Given the description of an element on the screen output the (x, y) to click on. 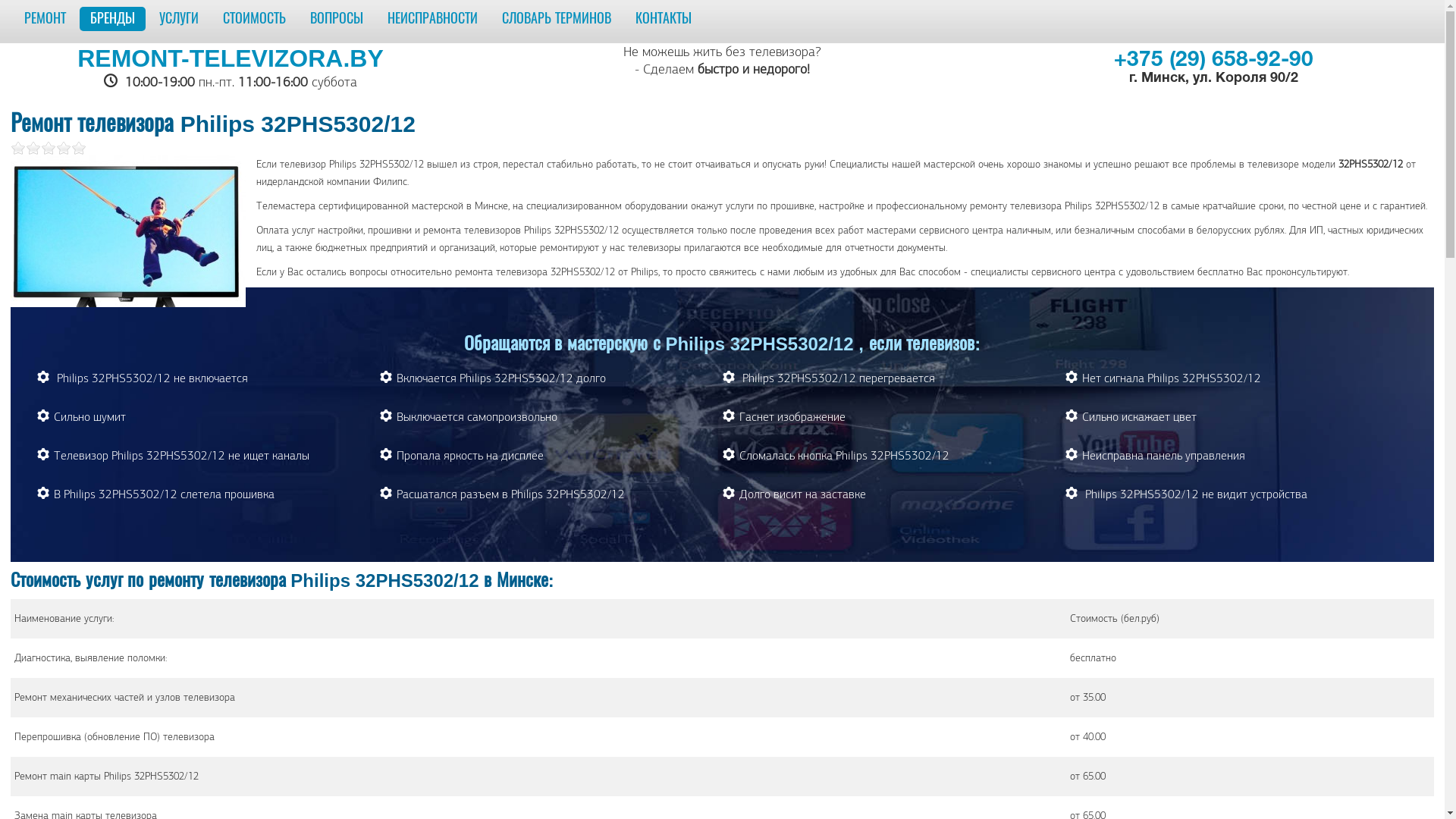
REMONT-TELEVIZORA.BY Element type: text (230, 58)
4 out of 5 Element type: hover (40, 146)
2 out of 5 Element type: hover (25, 146)
5 out of 5 Element type: hover (48, 146)
3 out of 5 Element type: hover (33, 146)
+375 (29) 658-92-90 Element type: text (1213, 60)
1 out of 5 Element type: hover (17, 146)
